Given the description of an element on the screen output the (x, y) to click on. 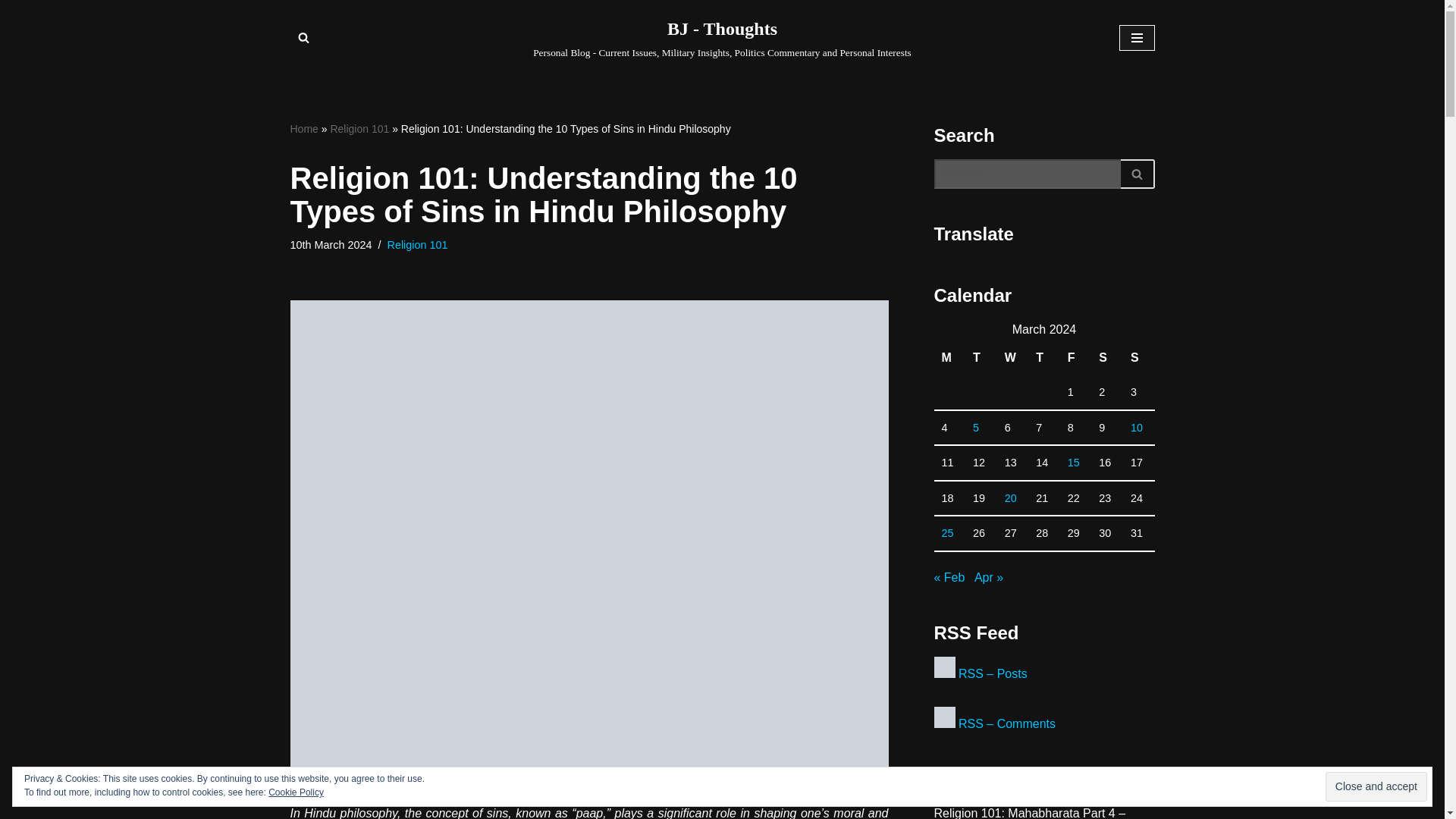
Religion 101 (359, 128)
Home (303, 128)
Close and accept (1375, 786)
Navigation Menu (1136, 37)
Religion 101 (417, 244)
Skip to content (11, 31)
